Given the description of an element on the screen output the (x, y) to click on. 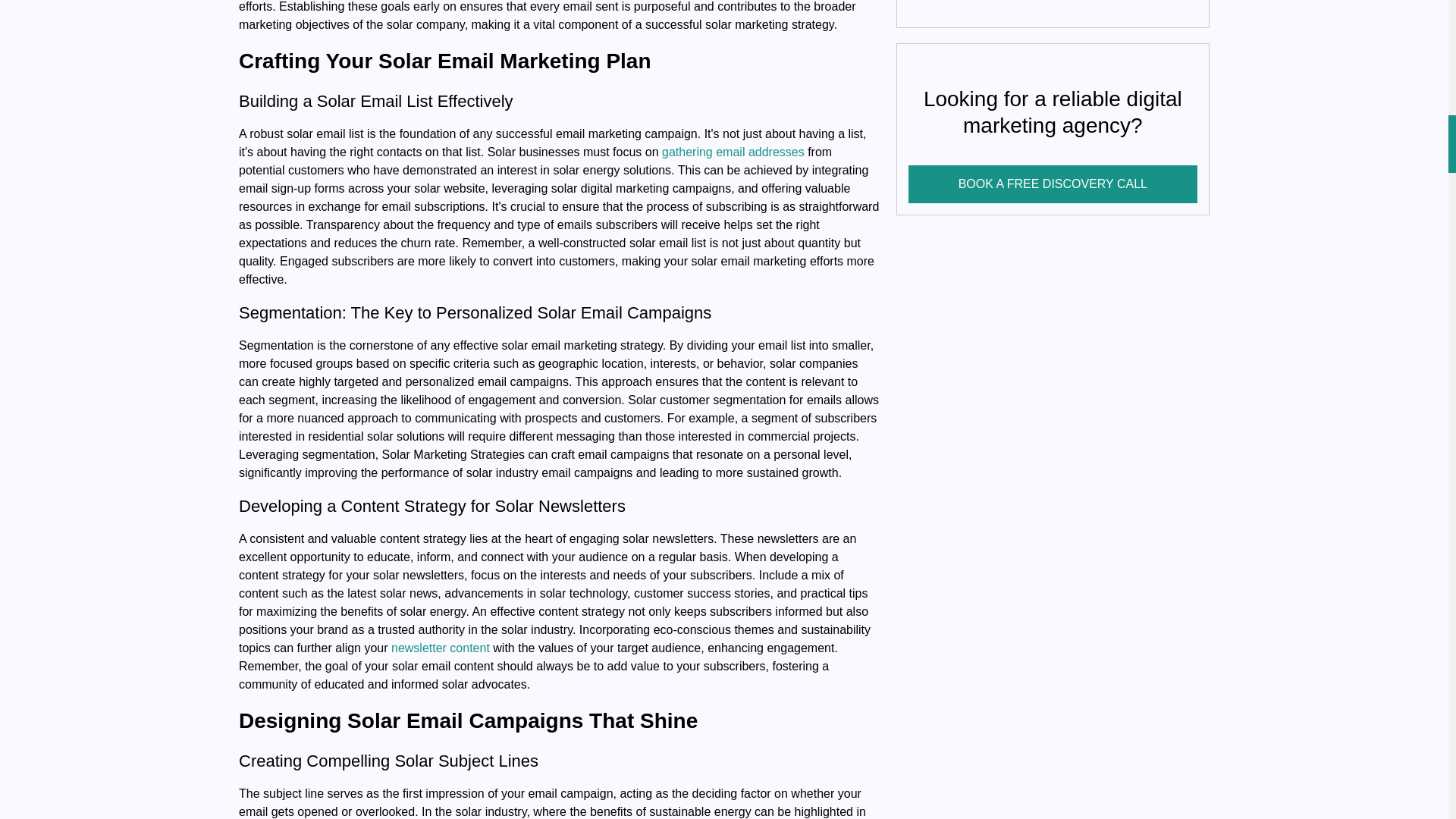
newsletter content (440, 647)
gathering email addresses (733, 151)
